Given the description of an element on the screen output the (x, y) to click on. 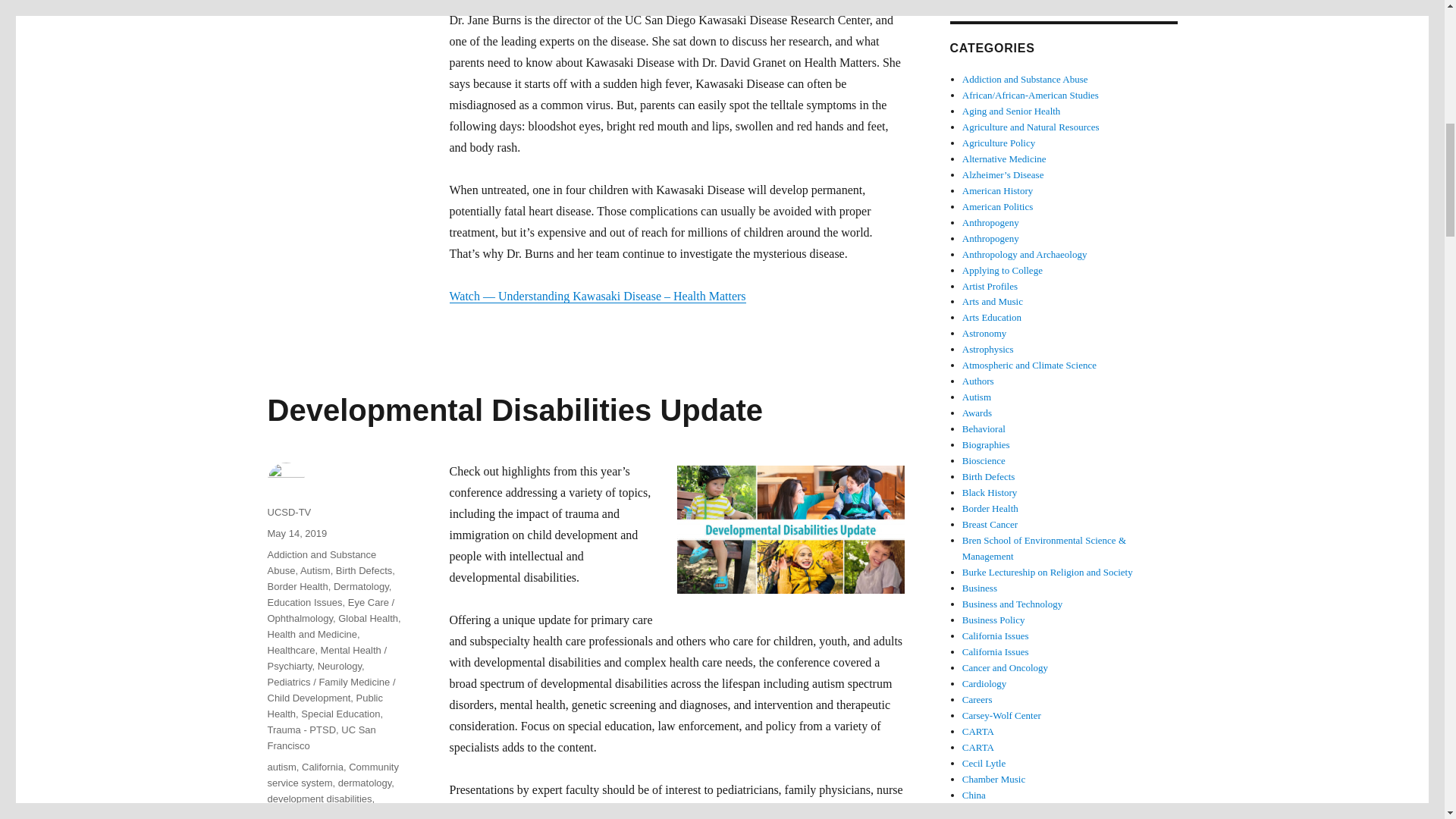
May 14, 2019 (296, 532)
Rash (363, 7)
Addiction and Substance Abuse (320, 562)
Birth Defects (363, 570)
Healthcare (290, 650)
Autism (314, 570)
Border Health (296, 586)
Developmental Disabilities Update (514, 409)
Neurology (339, 665)
Global Health (367, 618)
